Given the description of an element on the screen output the (x, y) to click on. 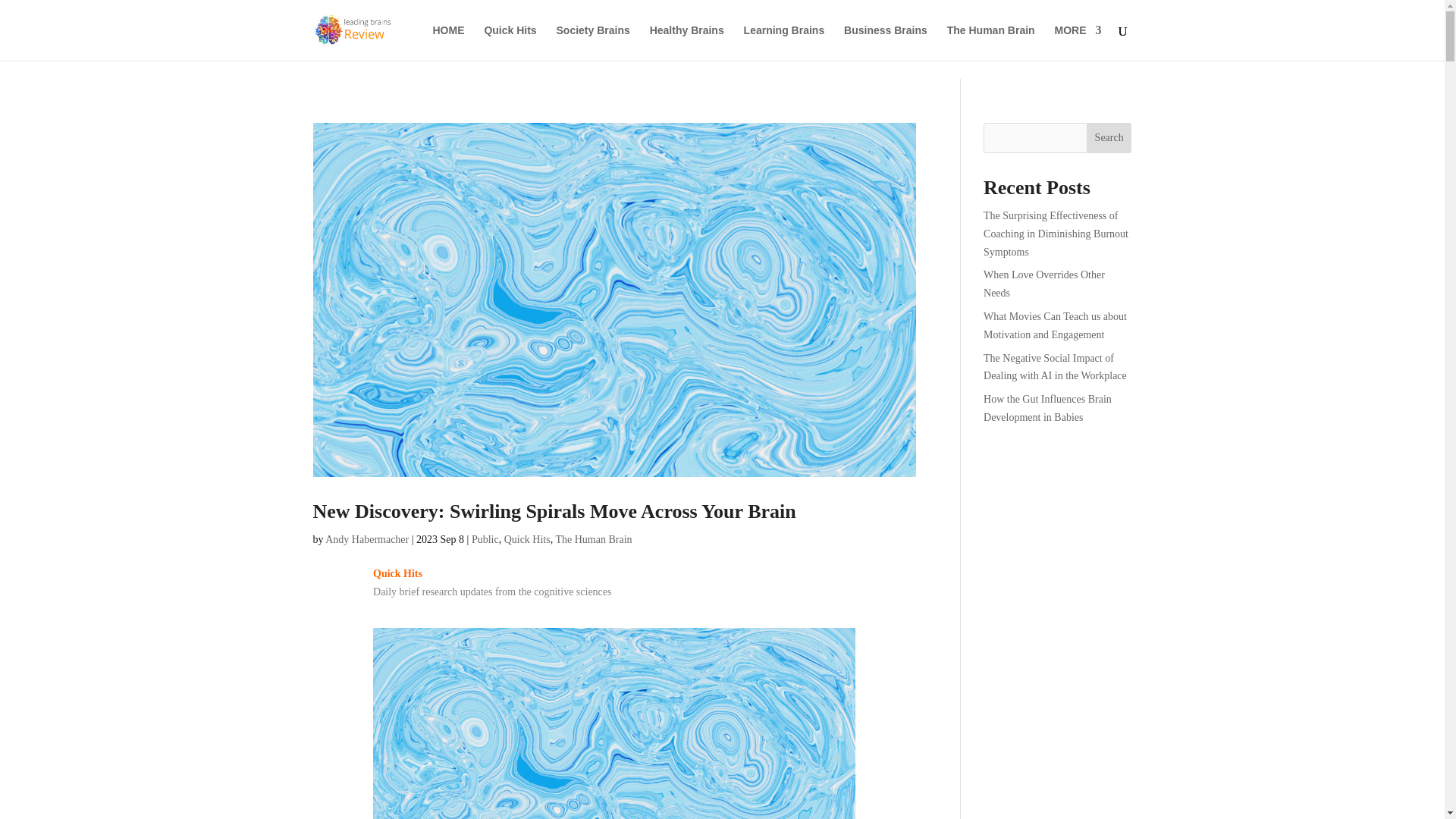
Public (485, 539)
The Human Brain (592, 539)
Healthy Brains (686, 42)
Posts by Andy Habermacher (366, 539)
Learning Brains (784, 42)
Mastodon (21, 8)
Quick Hits (509, 42)
Society Brains (593, 42)
MORE (1077, 42)
HOME (448, 42)
